Given the description of an element on the screen output the (x, y) to click on. 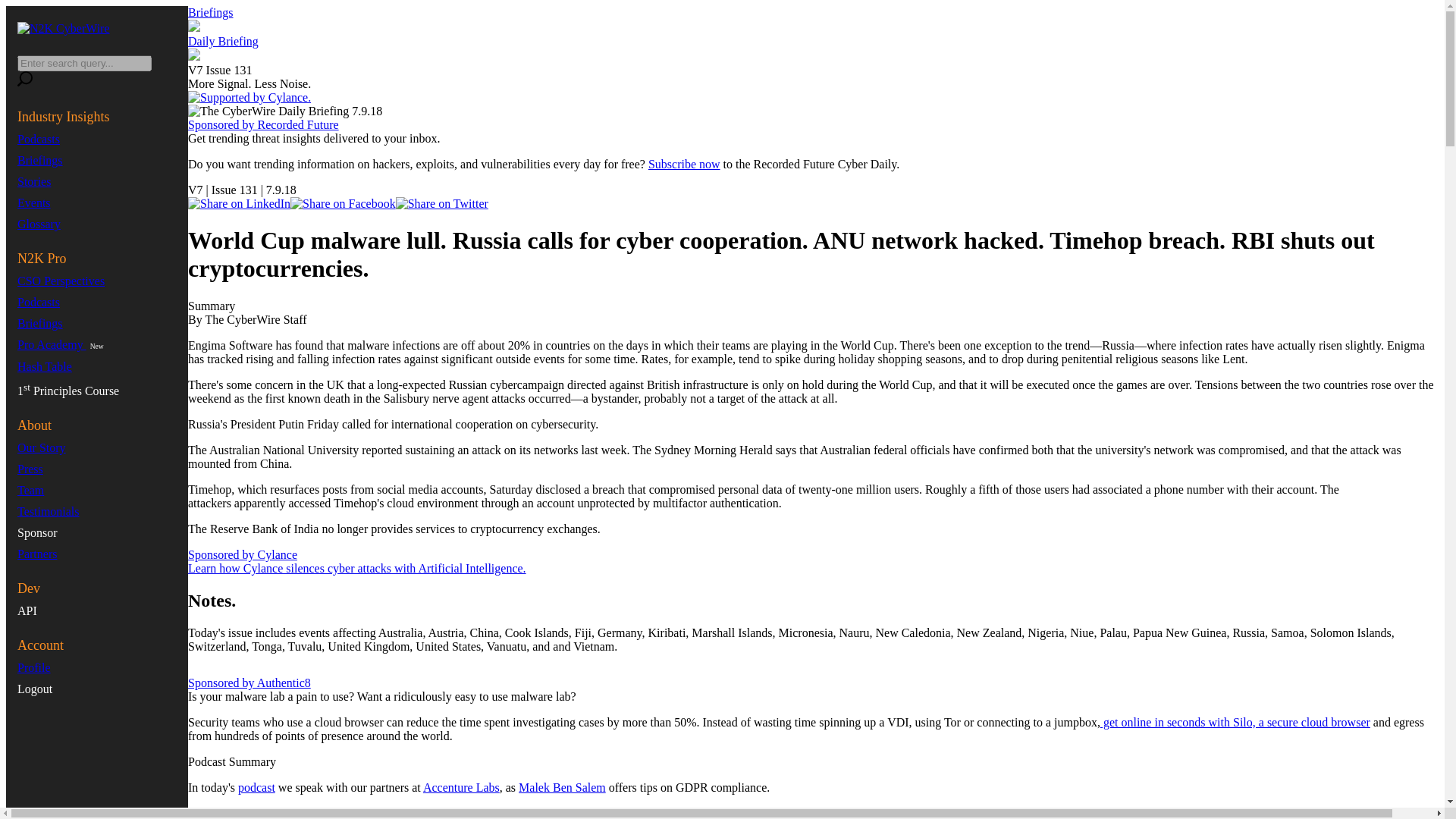
Team (30, 490)
Profile (33, 667)
Testimonials (48, 511)
Partners (36, 553)
CSO Perspectives (60, 280)
Stories (33, 181)
1st Principles Course (68, 390)
Briefings (39, 160)
Events (33, 202)
Glossary (39, 223)
